Given the description of an element on the screen output the (x, y) to click on. 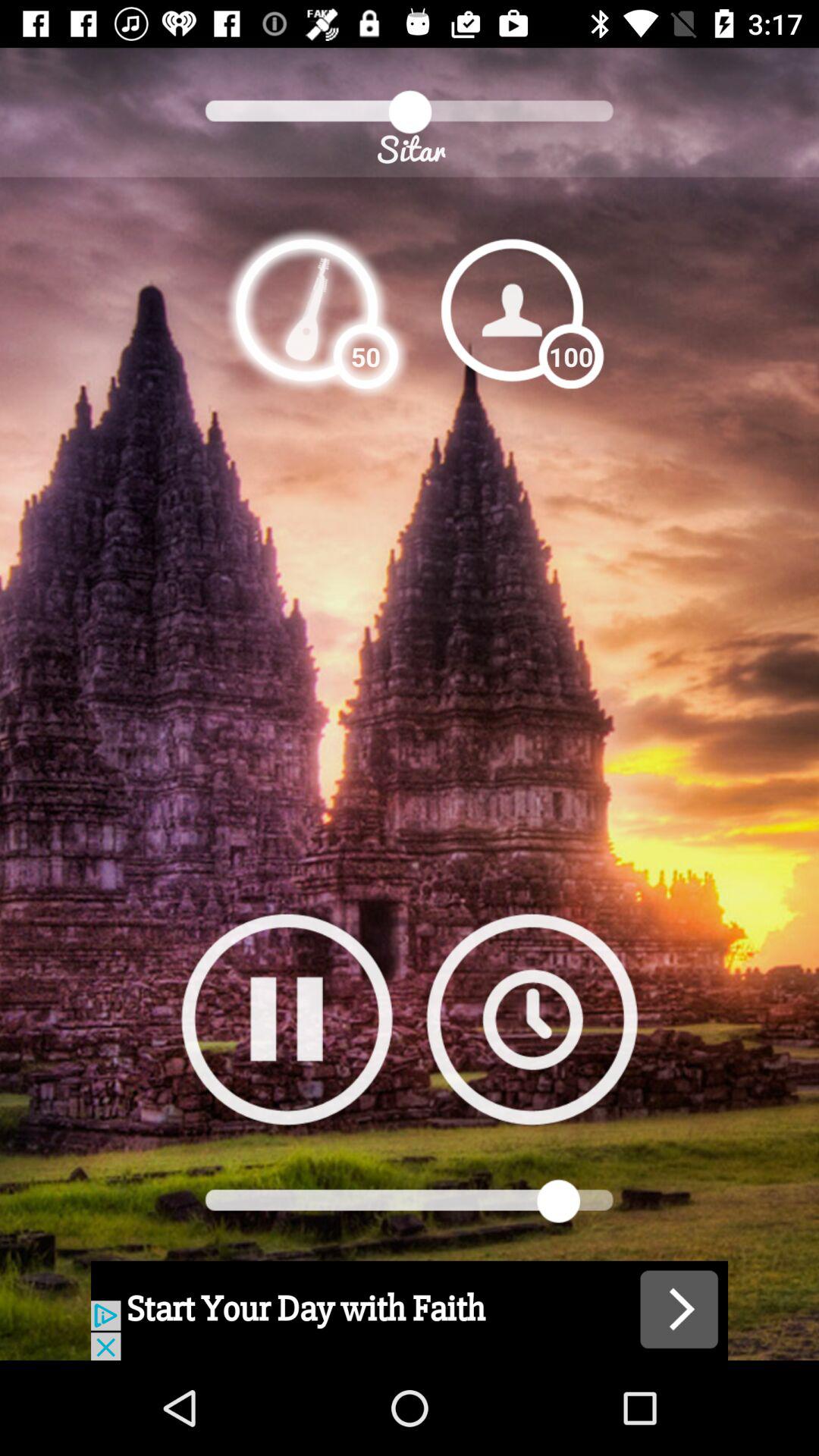
clock (531, 1018)
